Given the description of an element on the screen output the (x, y) to click on. 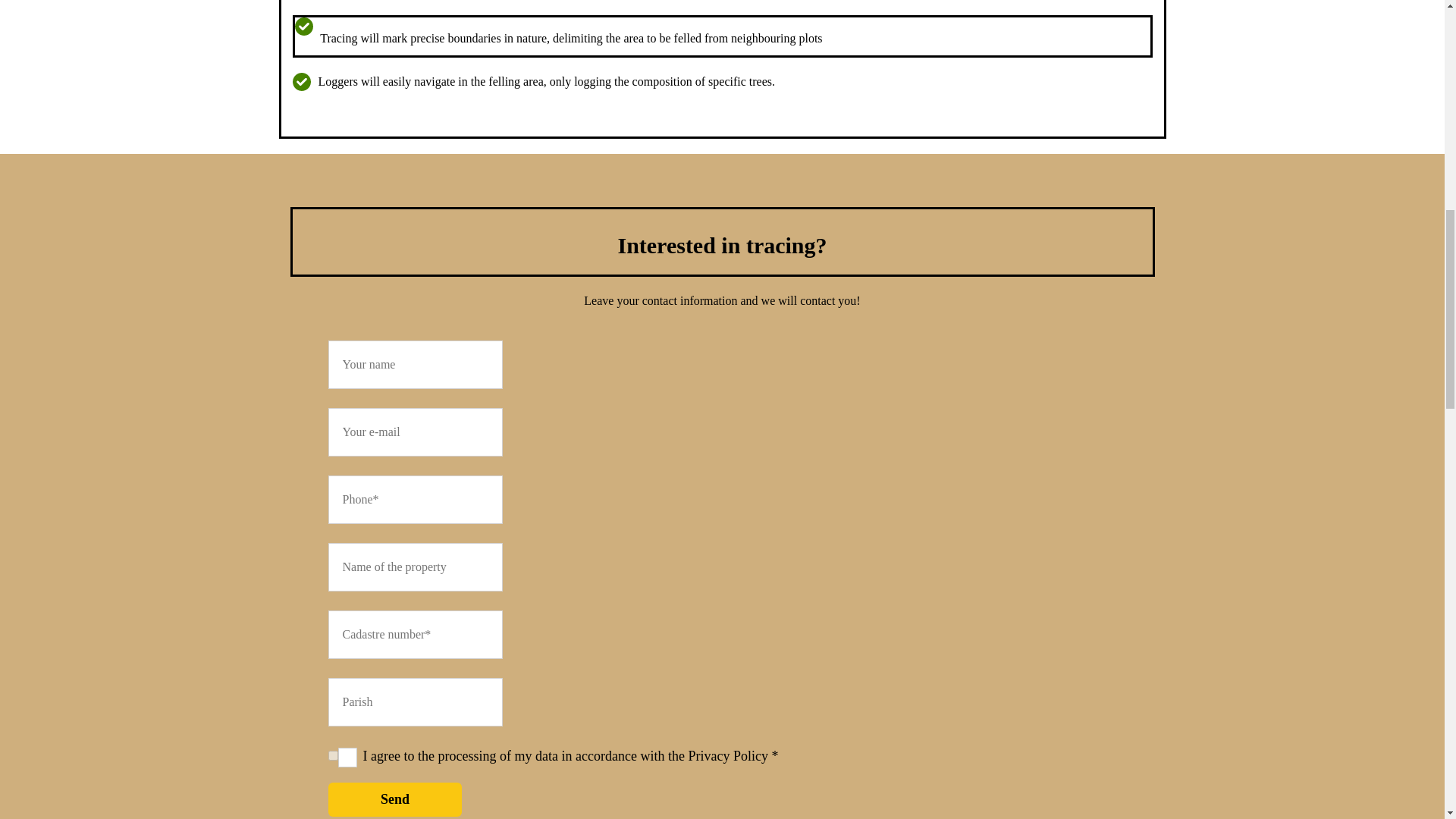
Send (394, 799)
1 (332, 755)
Send (394, 799)
